Given the description of an element on the screen output the (x, y) to click on. 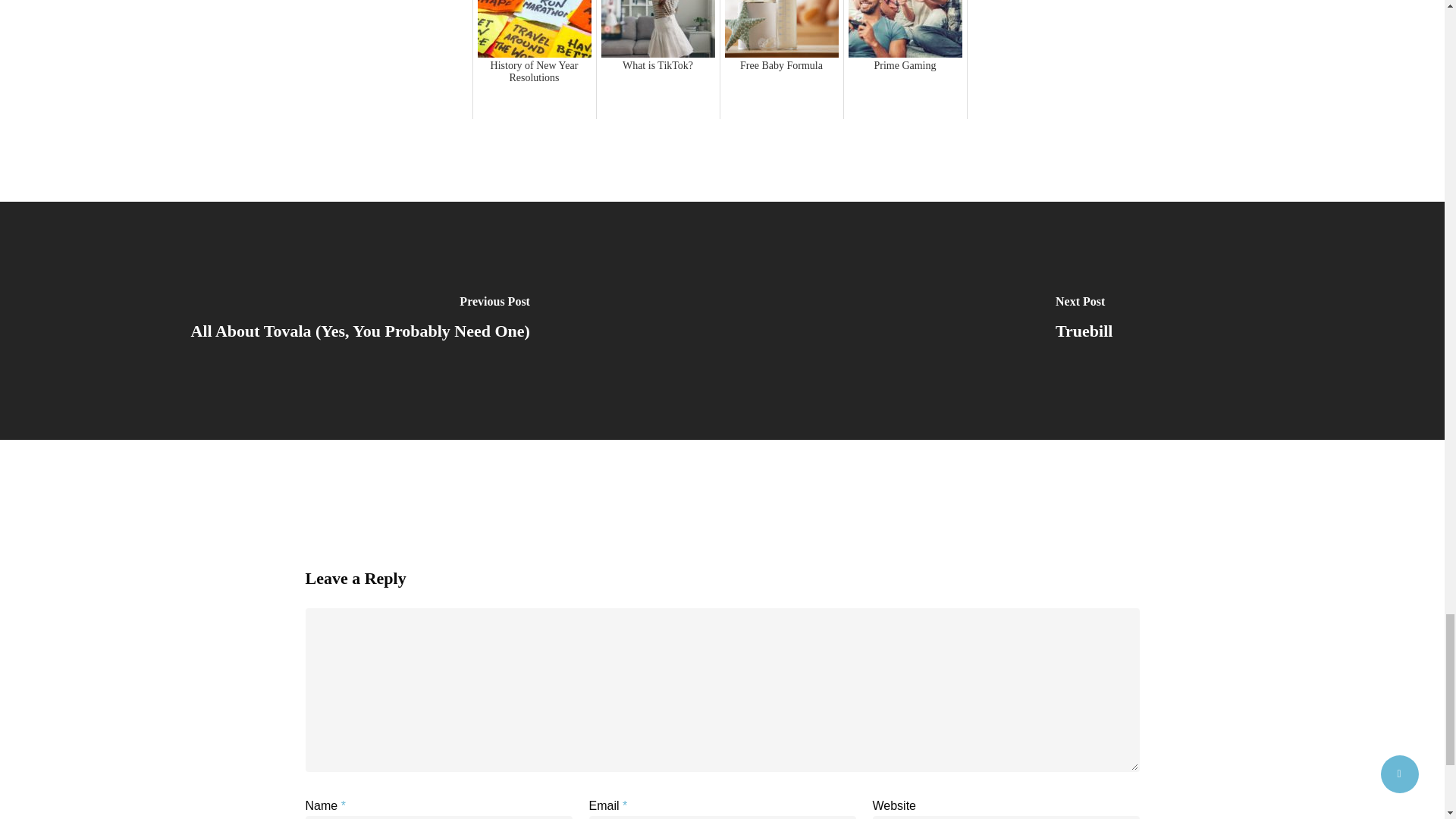
Prime Gaming (905, 59)
What is TikTok? (657, 59)
History of New Year Resolutions (533, 59)
Free Baby Formula (781, 59)
